Given the description of an element on the screen output the (x, y) to click on. 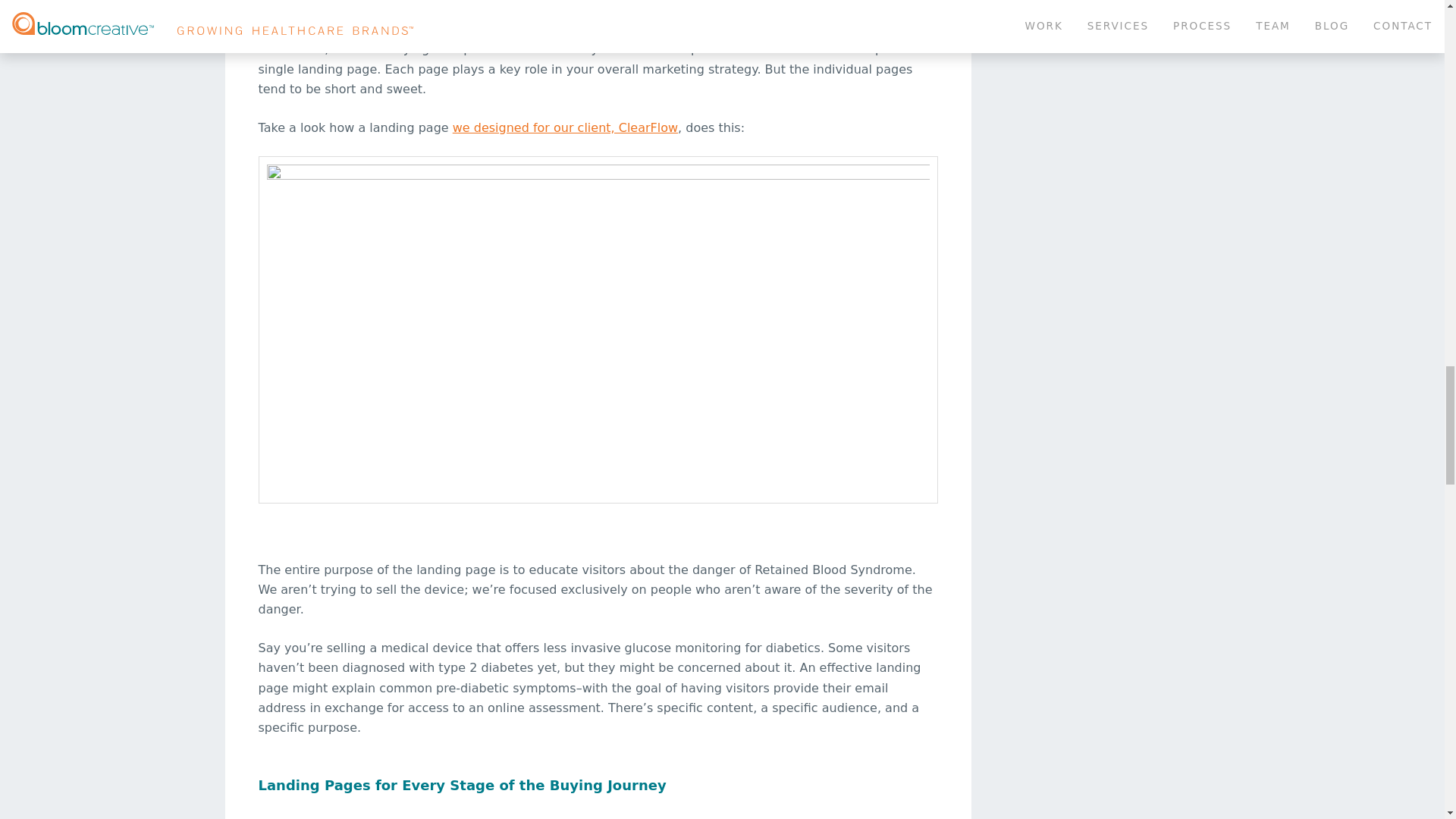
we designed for our client, ClearFlow (565, 127)
